Given the description of an element on the screen output the (x, y) to click on. 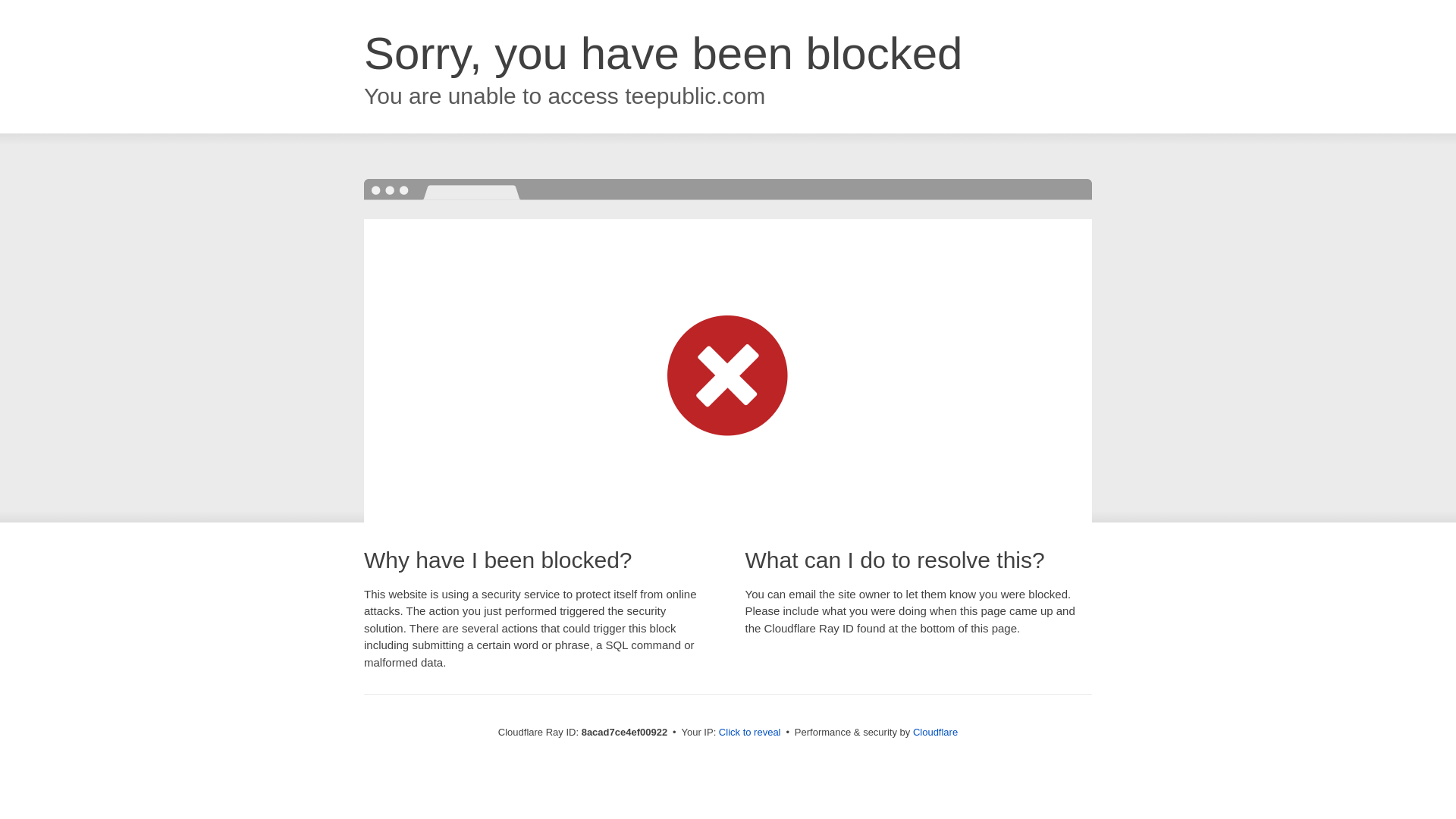
Click to reveal (749, 732)
Cloudflare (935, 731)
